Given the description of an element on the screen output the (x, y) to click on. 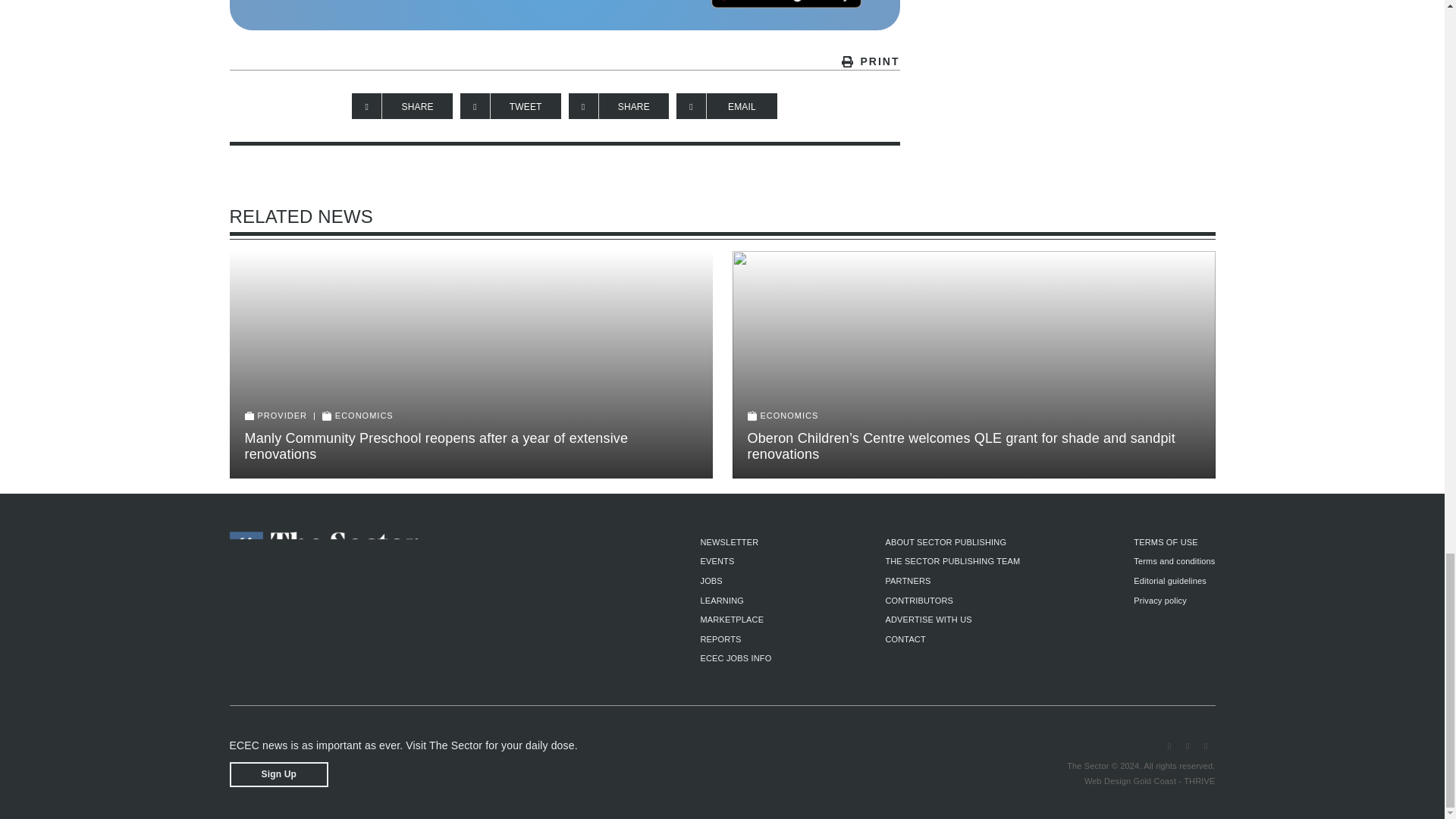
Share on Email (727, 105)
Share on LinkedIn (619, 105)
Share on Facebook (402, 105)
Tweet (510, 105)
Web Design Gold Coast (1130, 780)
